Given the description of an element on the screen output the (x, y) to click on. 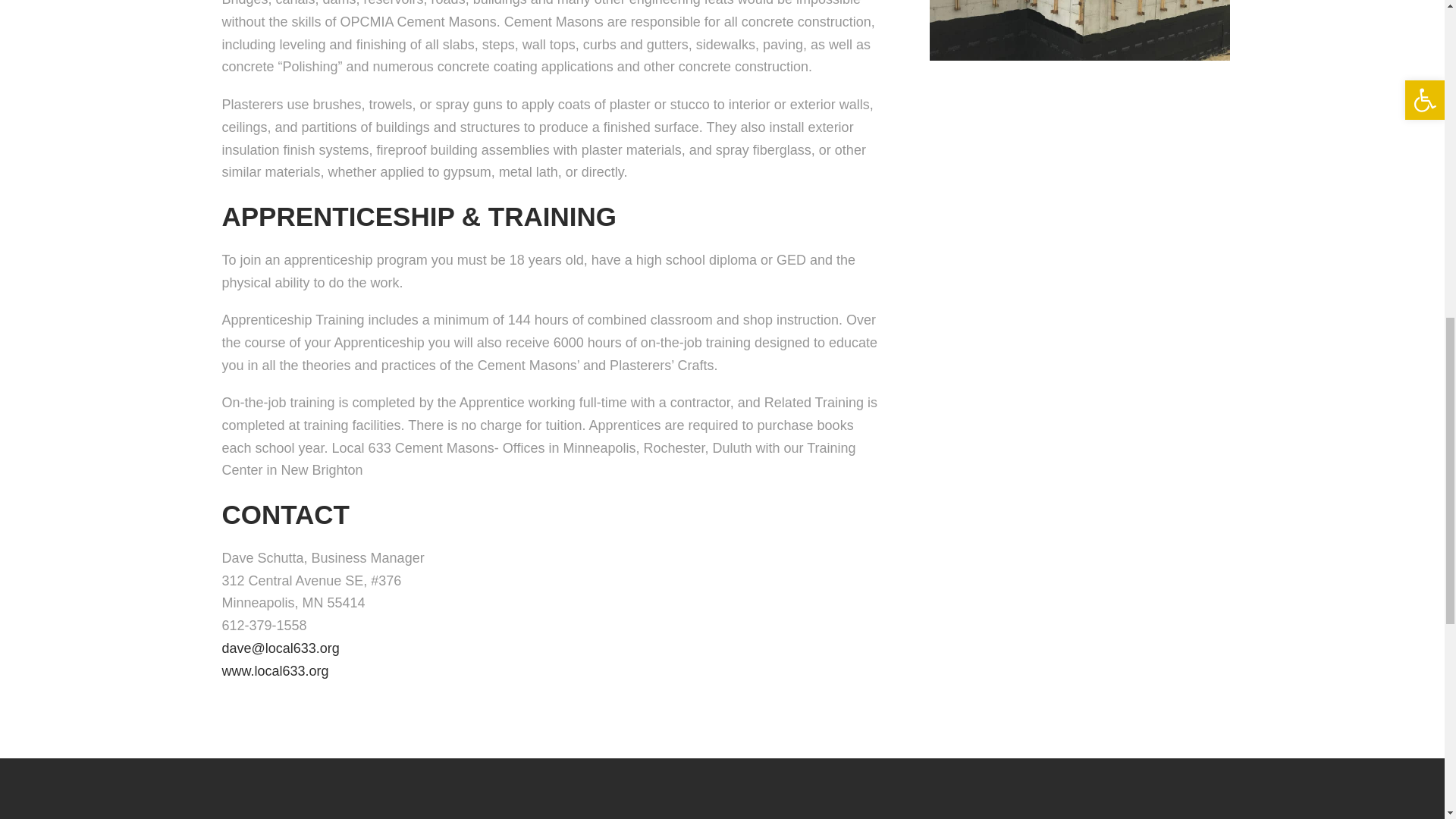
www.local633.org (275, 670)
